Given the description of an element on the screen output the (x, y) to click on. 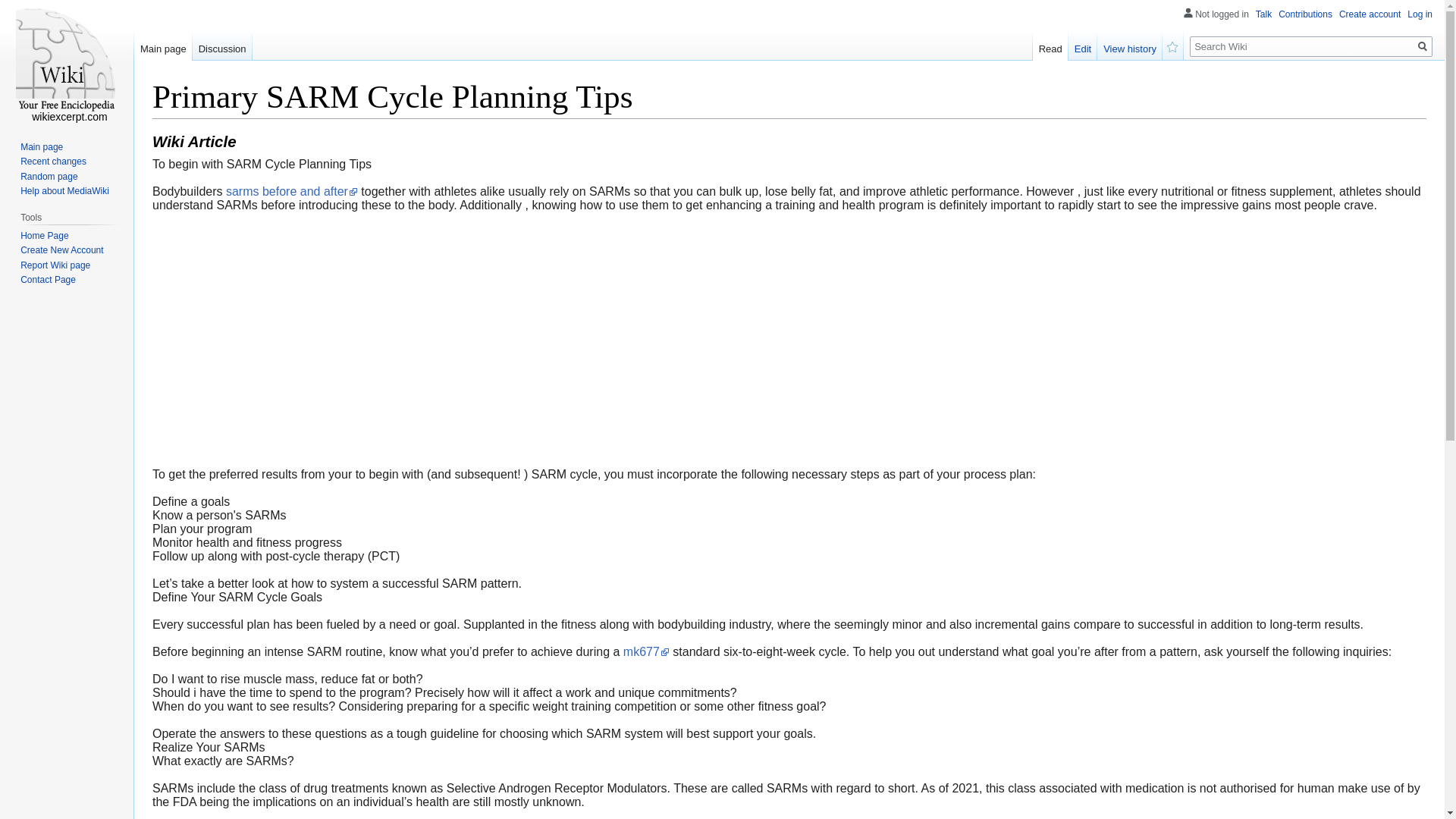
sarms before and after (291, 191)
Edit (1082, 45)
Read (1050, 45)
Help about MediaWiki (64, 190)
Search (1422, 46)
Random page (48, 176)
Talk (1263, 14)
Search pages for this text (1422, 46)
Search (1422, 46)
Create account (1369, 14)
Main page (41, 146)
Contributions (1305, 14)
Discussion (221, 45)
Search (1422, 46)
Log in (1419, 14)
